Given the description of an element on the screen output the (x, y) to click on. 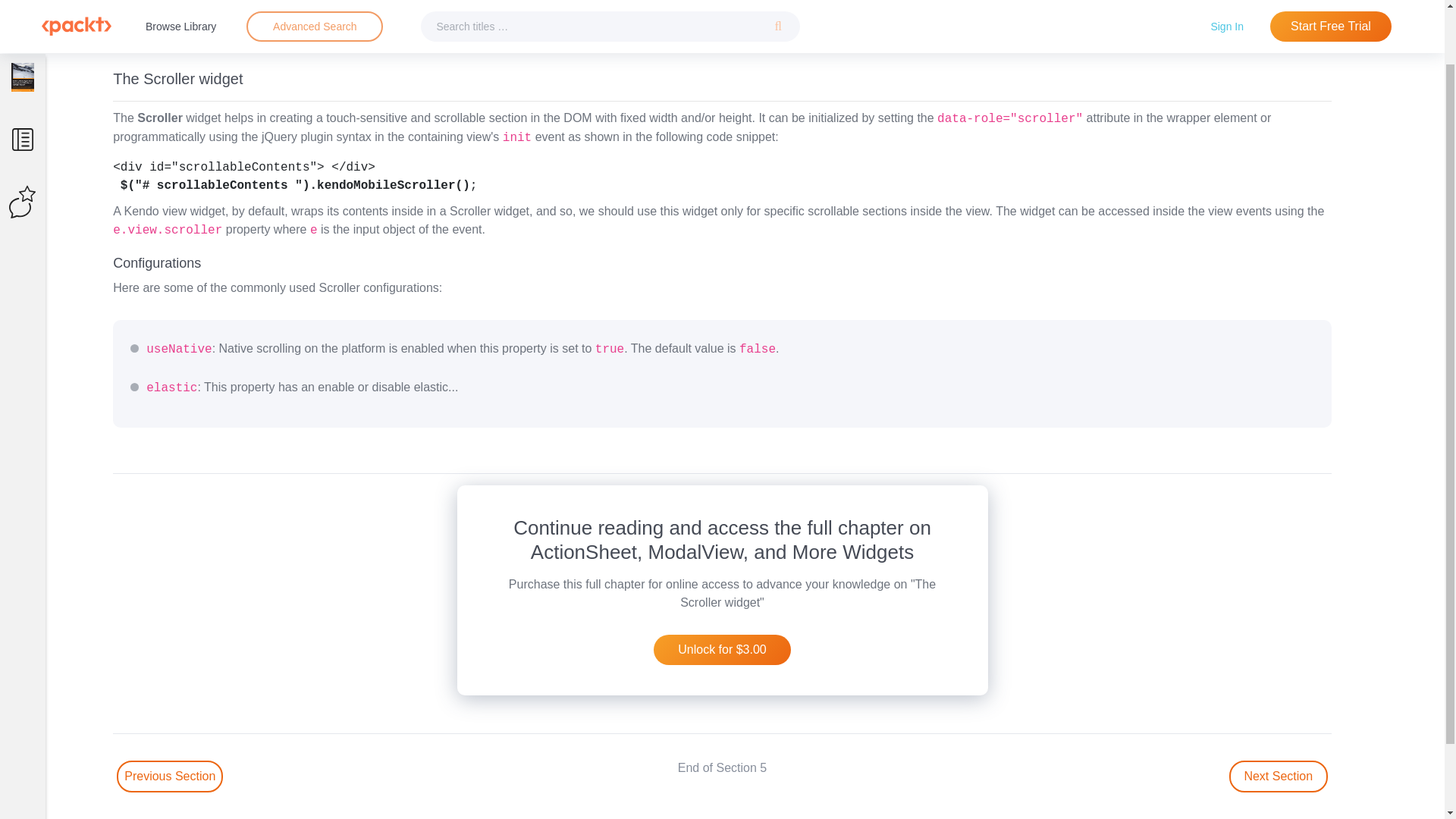
Go to next section (1277, 776)
Go to Previous section (169, 776)
